Given the description of an element on the screen output the (x, y) to click on. 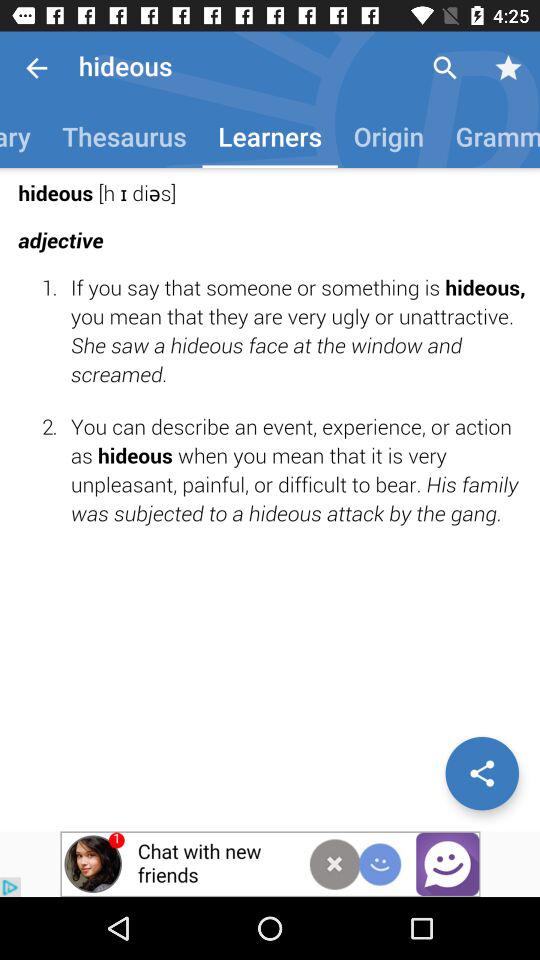
click on share button at the bottom right corner (482, 773)
